Given the description of an element on the screen output the (x, y) to click on. 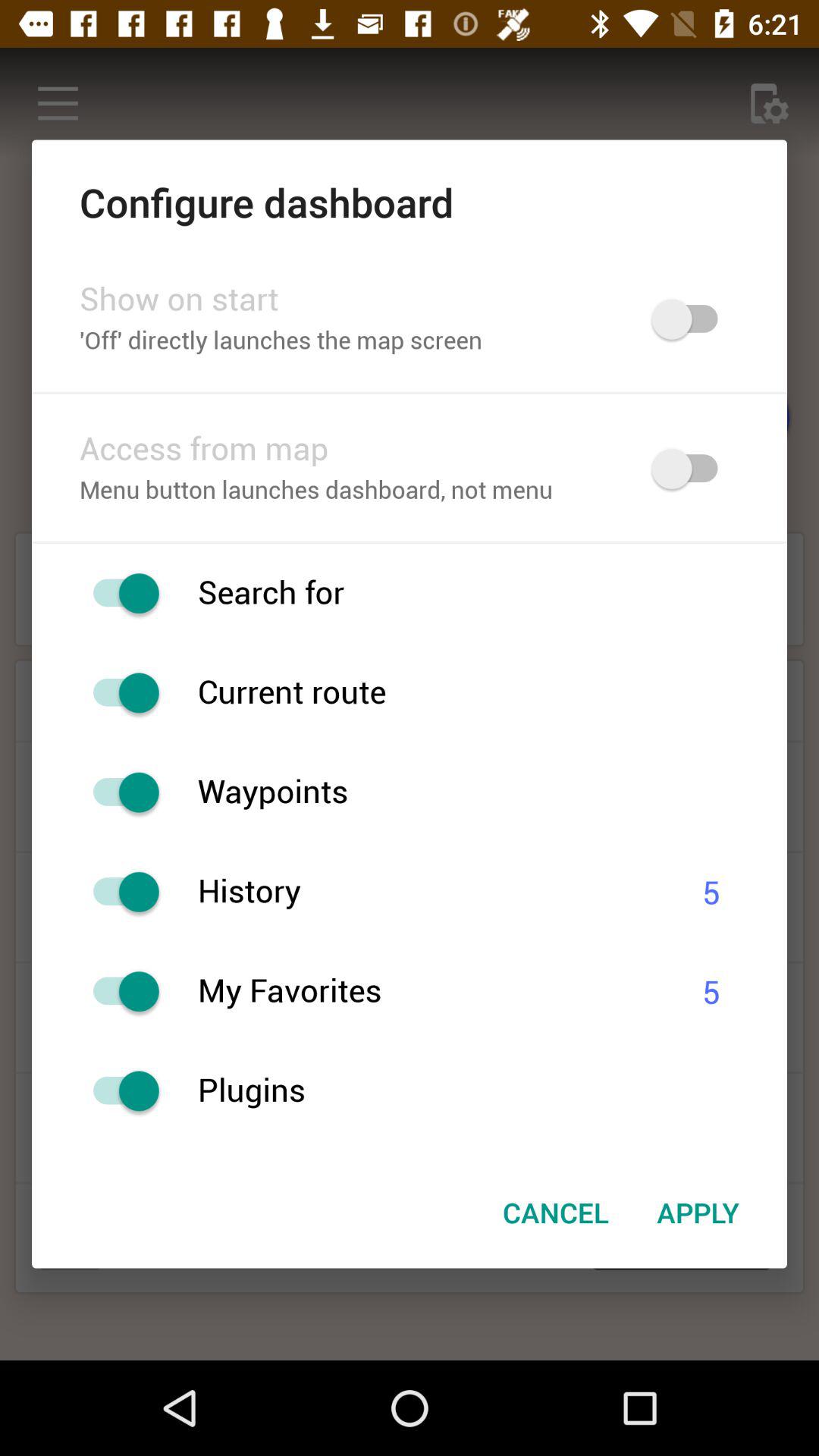
toggle show on start option (691, 319)
